Given the description of an element on the screen output the (x, y) to click on. 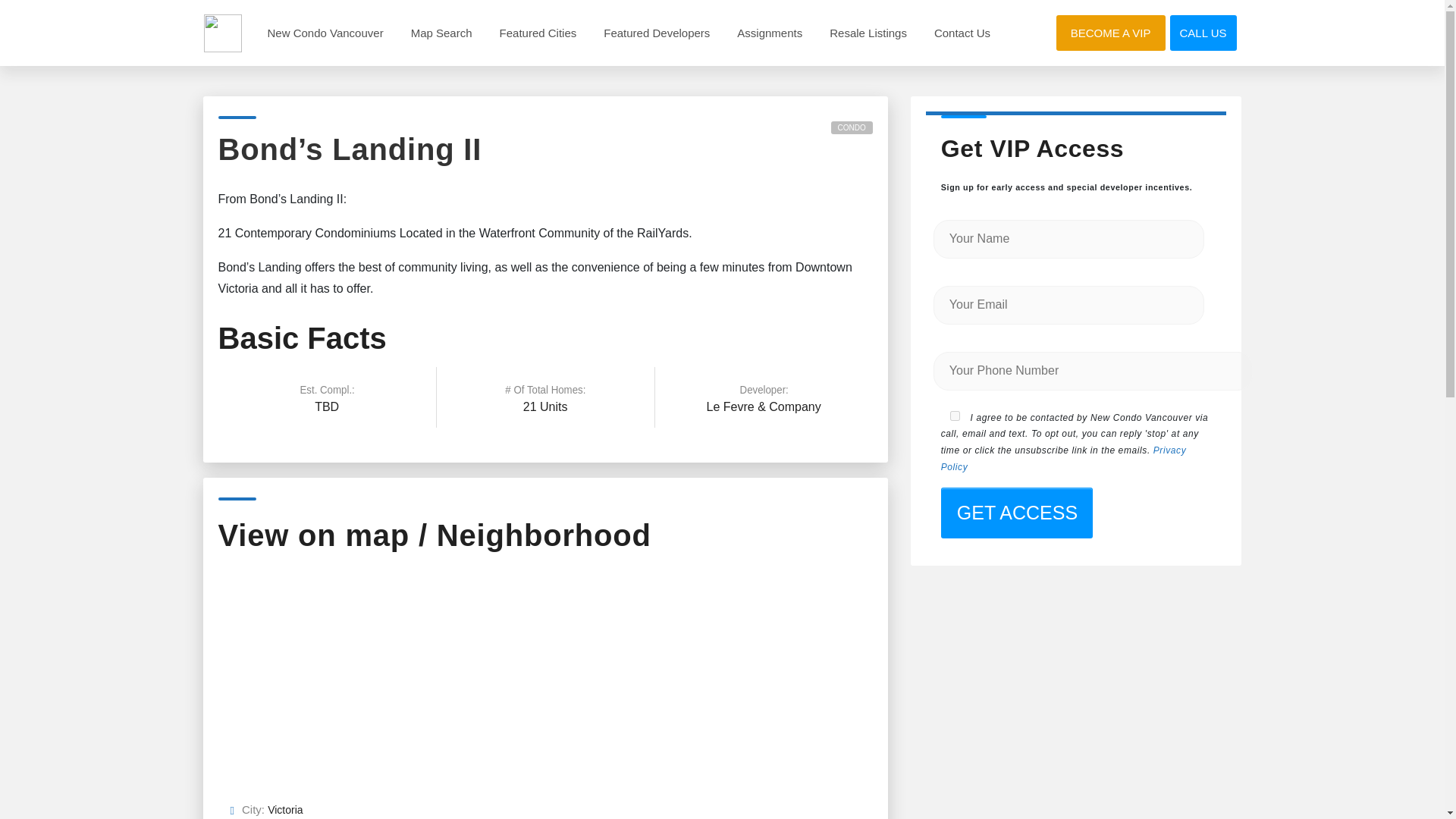
Assignments (769, 32)
Featured Cities (538, 32)
Contact Us (961, 32)
1 (954, 415)
Contact Us (961, 32)
Featured Developers (656, 32)
GET ACCESS (1016, 512)
Resale Listings (868, 32)
BECOME A VIP (1110, 32)
Assignments (769, 32)
Become a VIP (1110, 32)
Call Us (1203, 32)
Featured Cities (538, 32)
CALL US (1203, 32)
Featured Developers (656, 32)
